Given the description of an element on the screen output the (x, y) to click on. 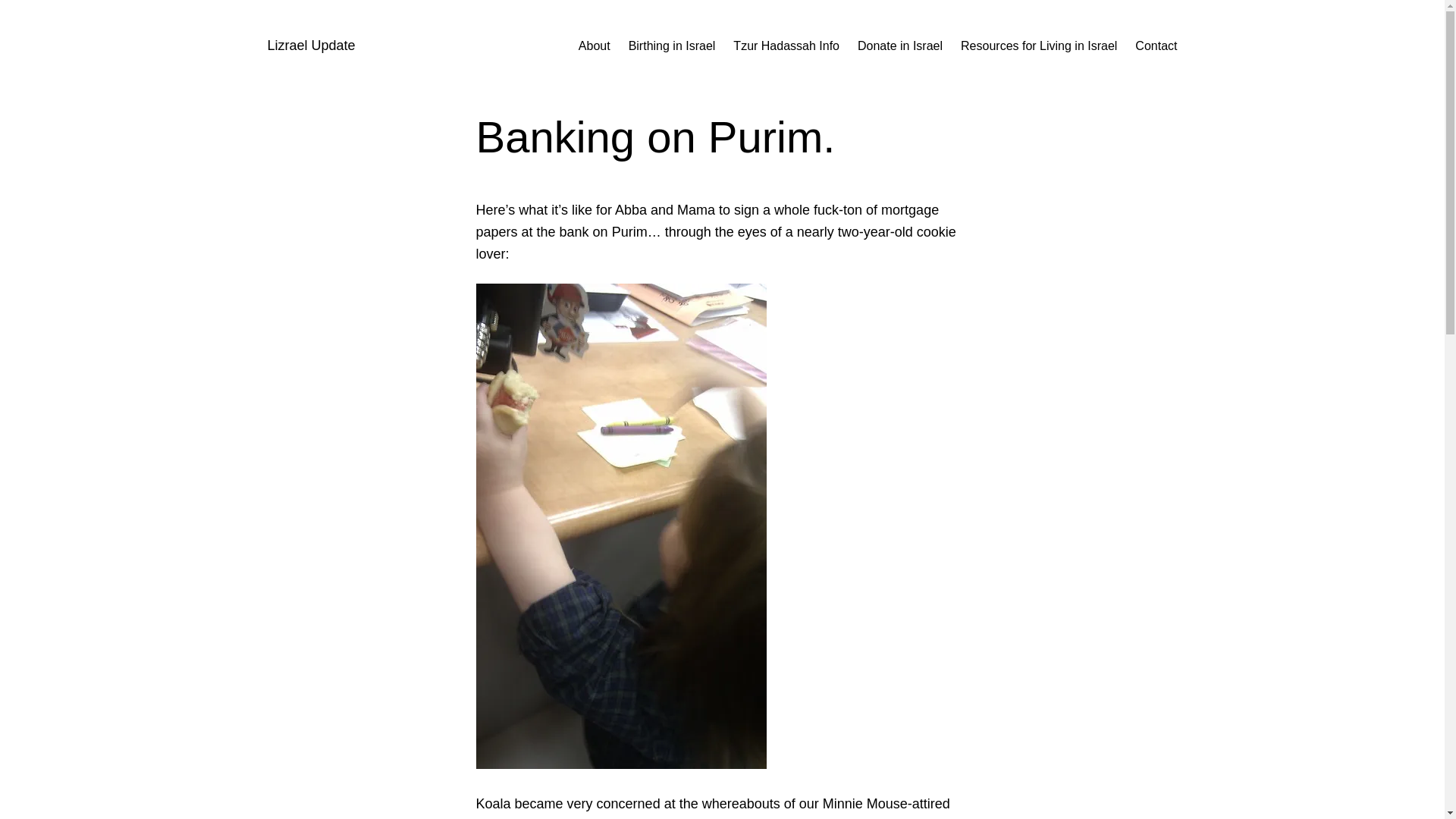
Contact (1155, 46)
Resources for Living in Israel (1038, 46)
Tzur Hadassah Info (786, 46)
About (594, 46)
Birthing in Israel (672, 46)
Donate in Israel (899, 46)
Lizrael Update (310, 45)
